Given the description of an element on the screen output the (x, y) to click on. 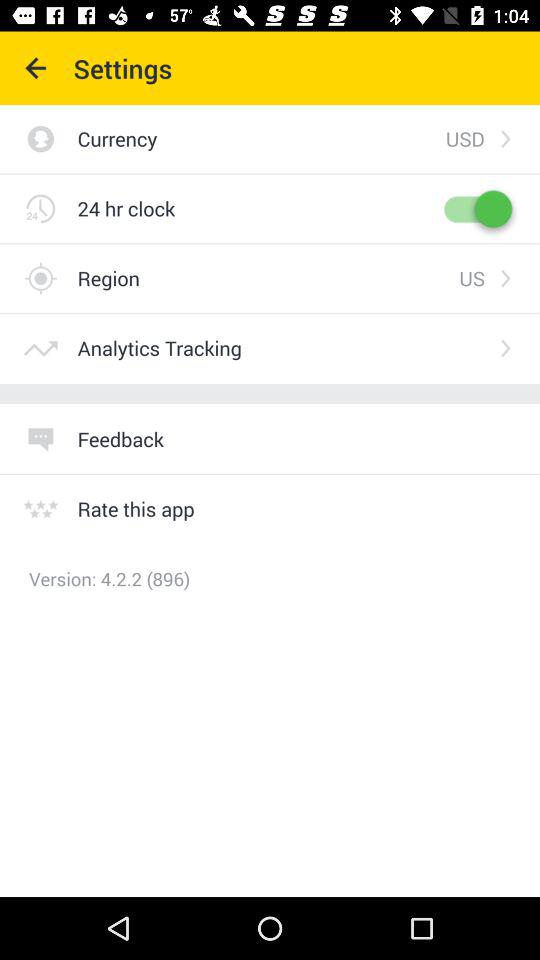
launch icon to the left of the settings (36, 68)
